Given the description of an element on the screen output the (x, y) to click on. 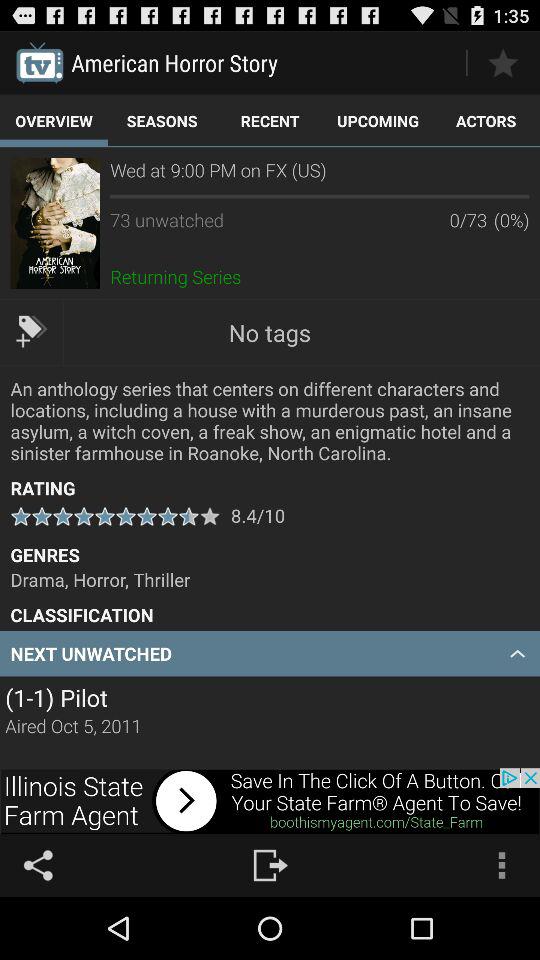
add to favorite option (502, 62)
